Given the description of an element on the screen output the (x, y) to click on. 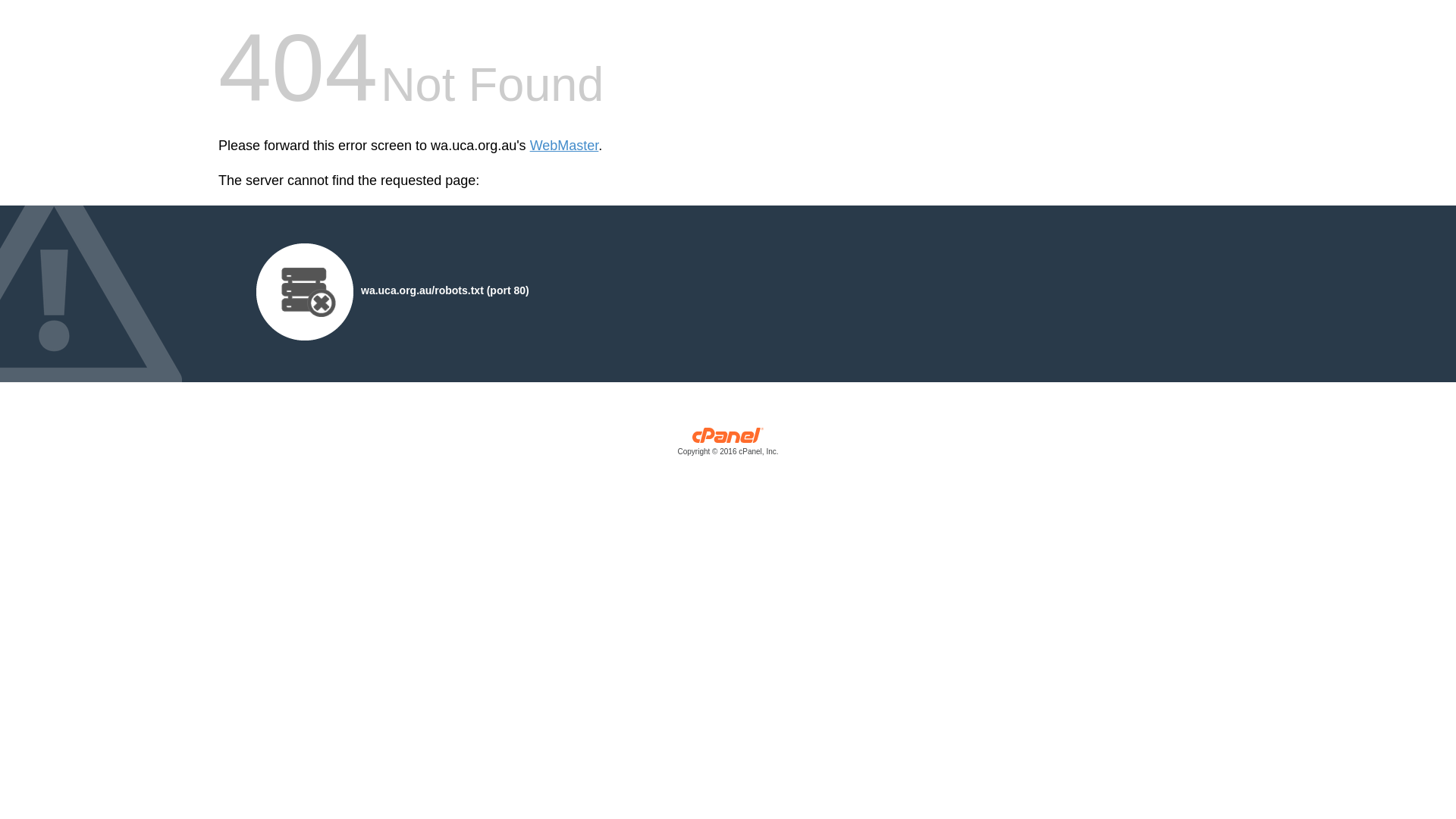
WebMaster Element type: text (564, 145)
